Given the description of an element on the screen output the (x, y) to click on. 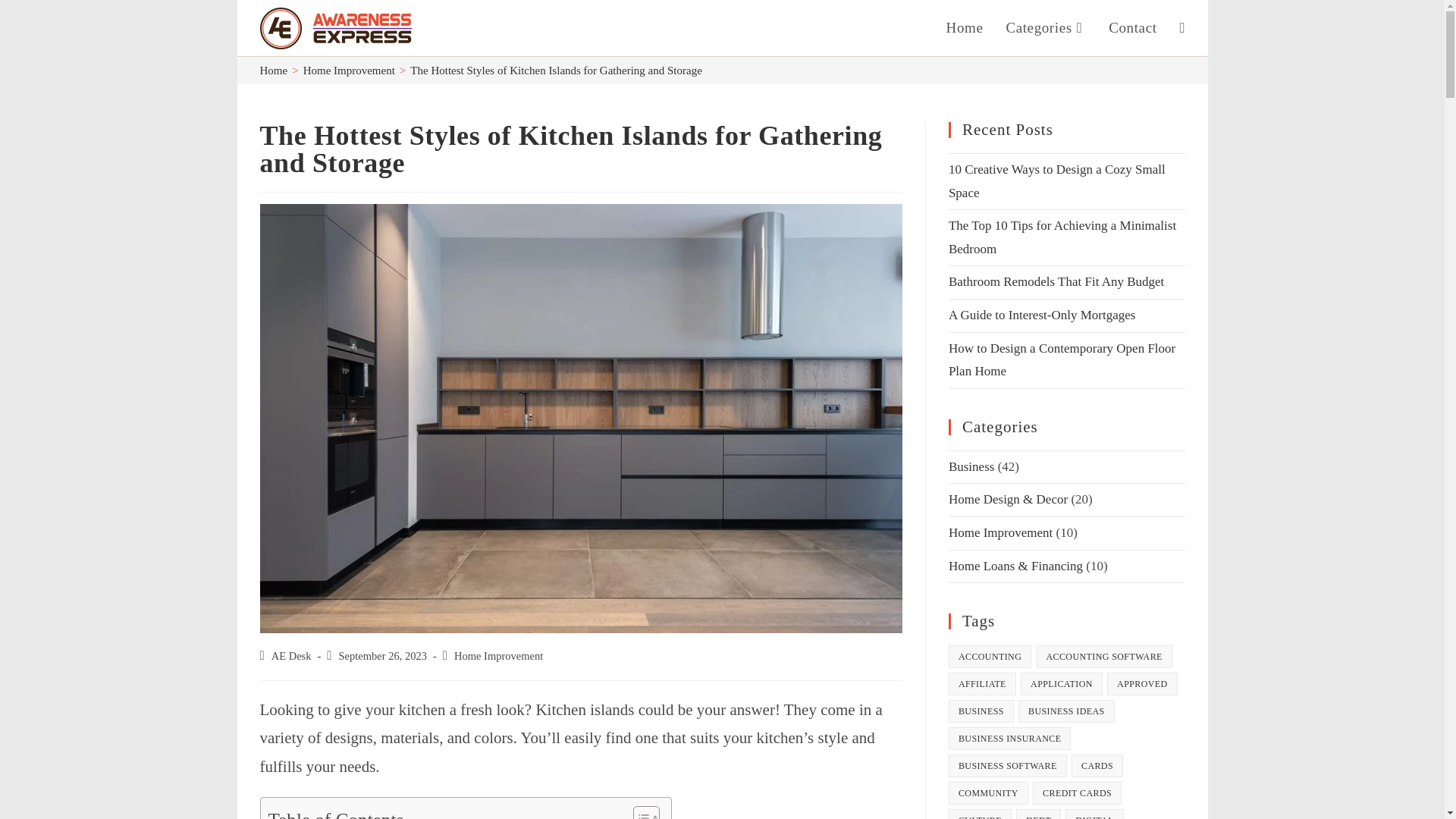
AE Desk (290, 655)
Home (964, 28)
Categories (1045, 28)
Home (272, 70)
Posts by AE Desk (290, 655)
Home Improvement (348, 70)
Home Improvement (498, 655)
Contact (1132, 28)
